Given the description of an element on the screen output the (x, y) to click on. 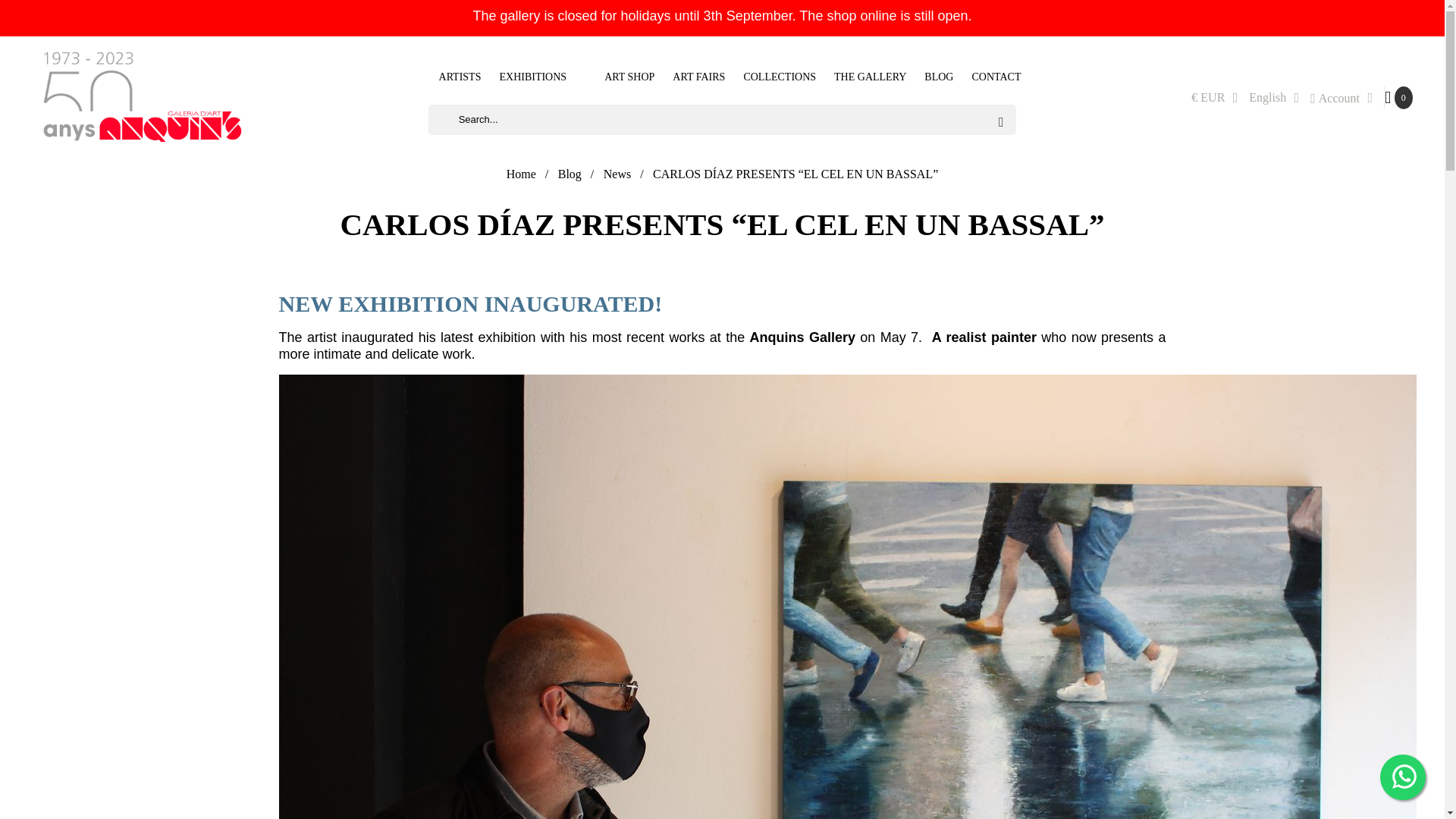
ART SHOP (619, 76)
EXHIBITIONS (532, 76)
Anquins Art Gallery  (142, 95)
COLLECTIONS (779, 76)
ART FAIRS (698, 76)
Currency (1214, 96)
Account (1341, 96)
BLOG (938, 76)
THE GALLERY (870, 76)
Language (1273, 96)
